Given the description of an element on the screen output the (x, y) to click on. 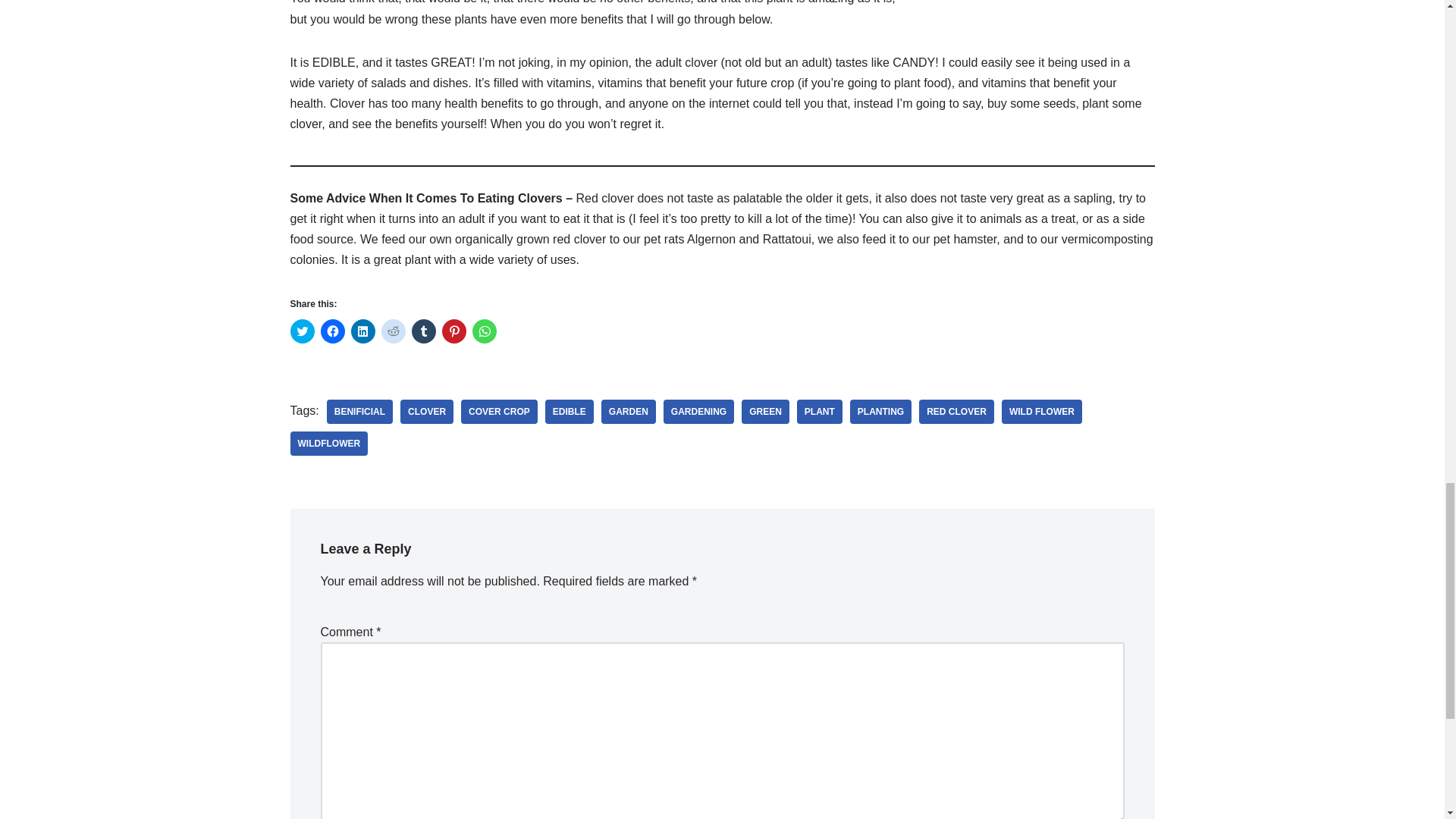
Click to share on WhatsApp (483, 331)
Click to share on Twitter (301, 331)
Click to share on Reddit (392, 331)
Click to share on Facebook (331, 331)
Click to share on LinkedIn (362, 331)
Click to share on Tumblr (422, 331)
Click to share on Pinterest (453, 331)
